Given the description of an element on the screen output the (x, y) to click on. 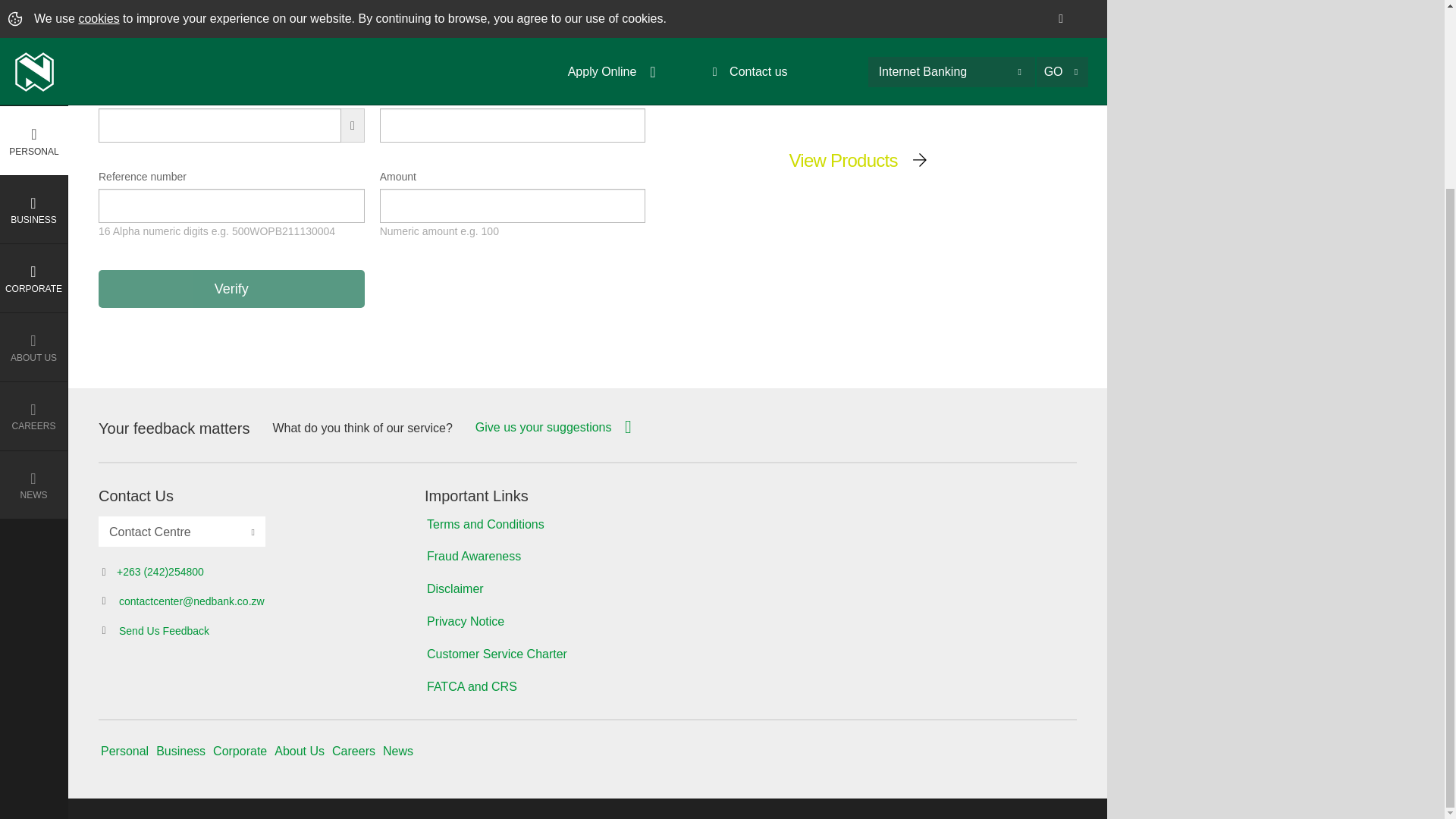
CAREERS (34, 181)
NEWS (34, 250)
FOREX (34, 175)
Ways to bank (34, 141)
CORPORATE (34, 42)
Borrow (34, 73)
BUSINESS (34, 4)
ABOUT US (34, 111)
Bancassurance (34, 107)
Bank (34, 11)
